Given the description of an element on the screen output the (x, y) to click on. 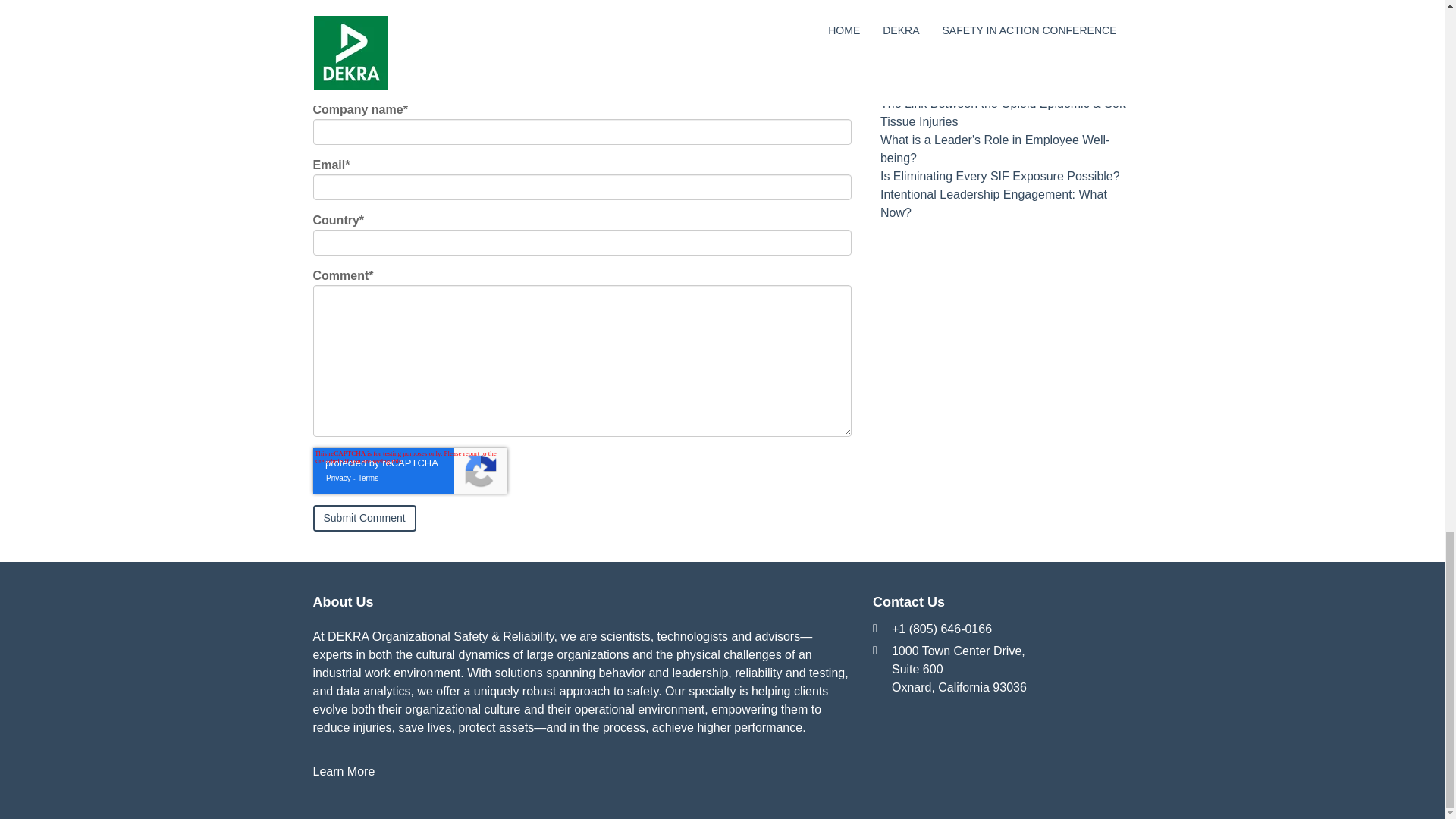
reCAPTCHA (409, 470)
Submit Comment (363, 518)
Submit Comment (363, 518)
